Given the description of an element on the screen output the (x, y) to click on. 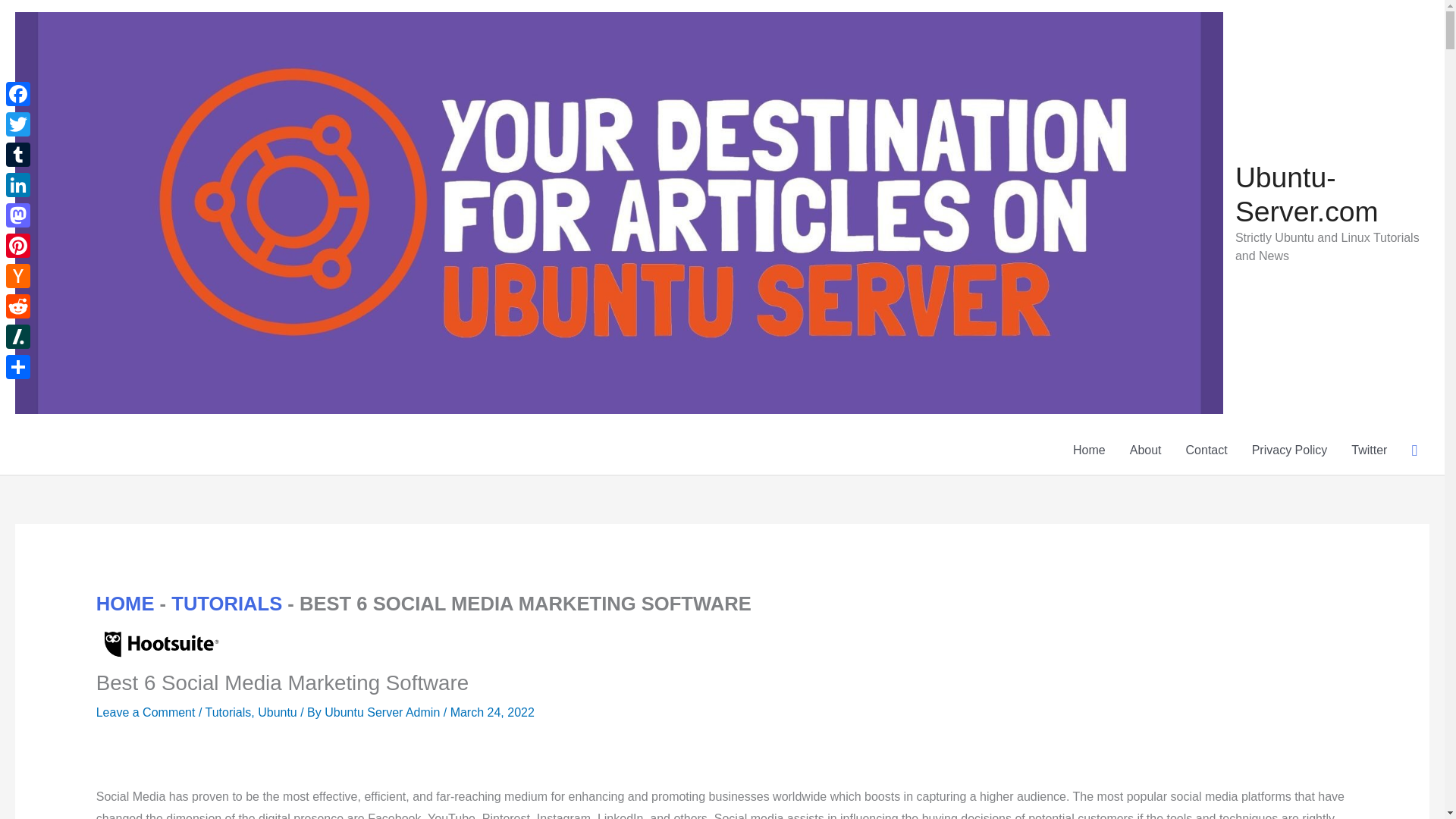
Contact (1206, 450)
Privacy Policy (1289, 450)
Ubuntu (277, 712)
Contact Us (1206, 450)
Tutorials (228, 712)
Home (1089, 450)
Ubuntu Server Admin (384, 712)
Leave a Comment (145, 712)
About (1145, 450)
Best 6 Social Media Marketing Software (160, 640)
